Given the description of an element on the screen output the (x, y) to click on. 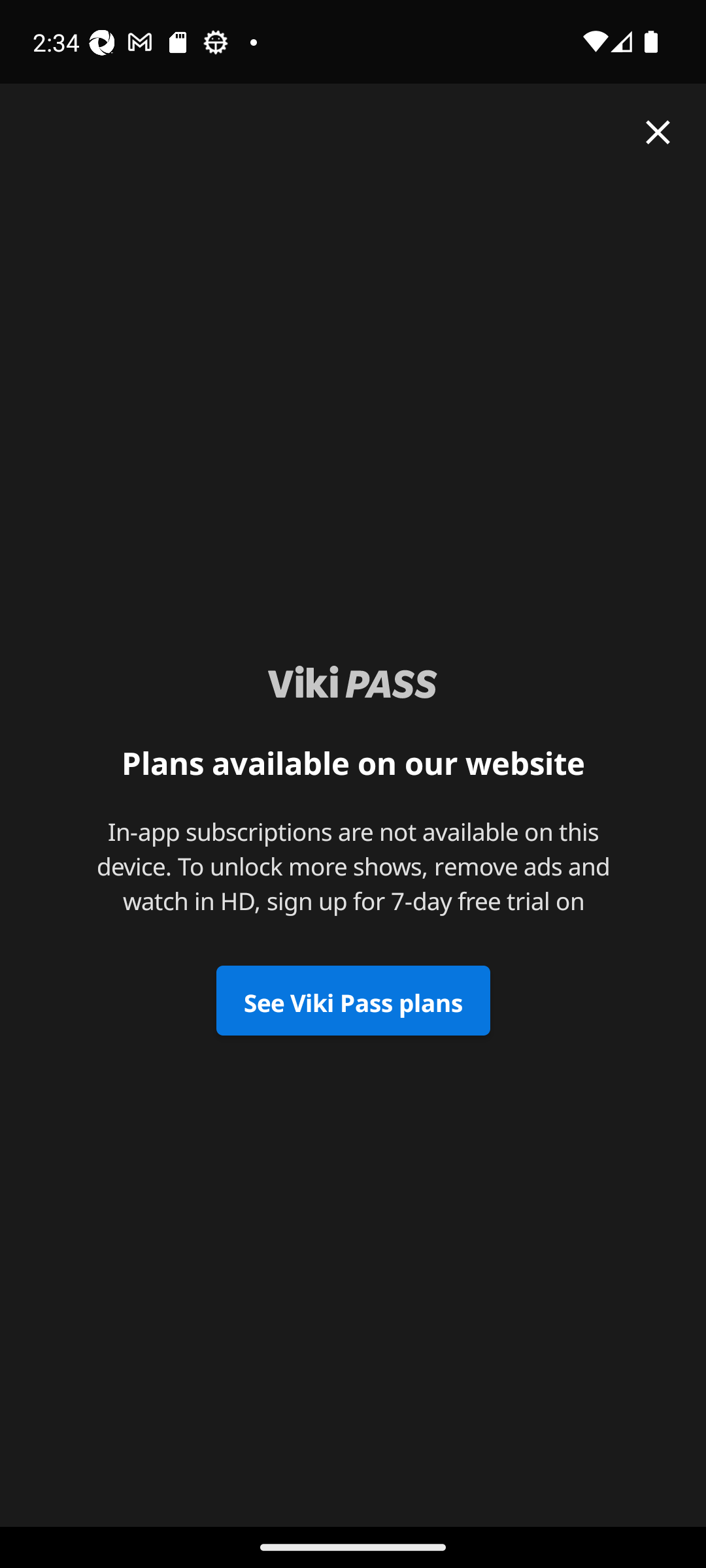
close_button (658, 132)
See Viki Pass plans (352, 1000)
